Given the description of an element on the screen output the (x, y) to click on. 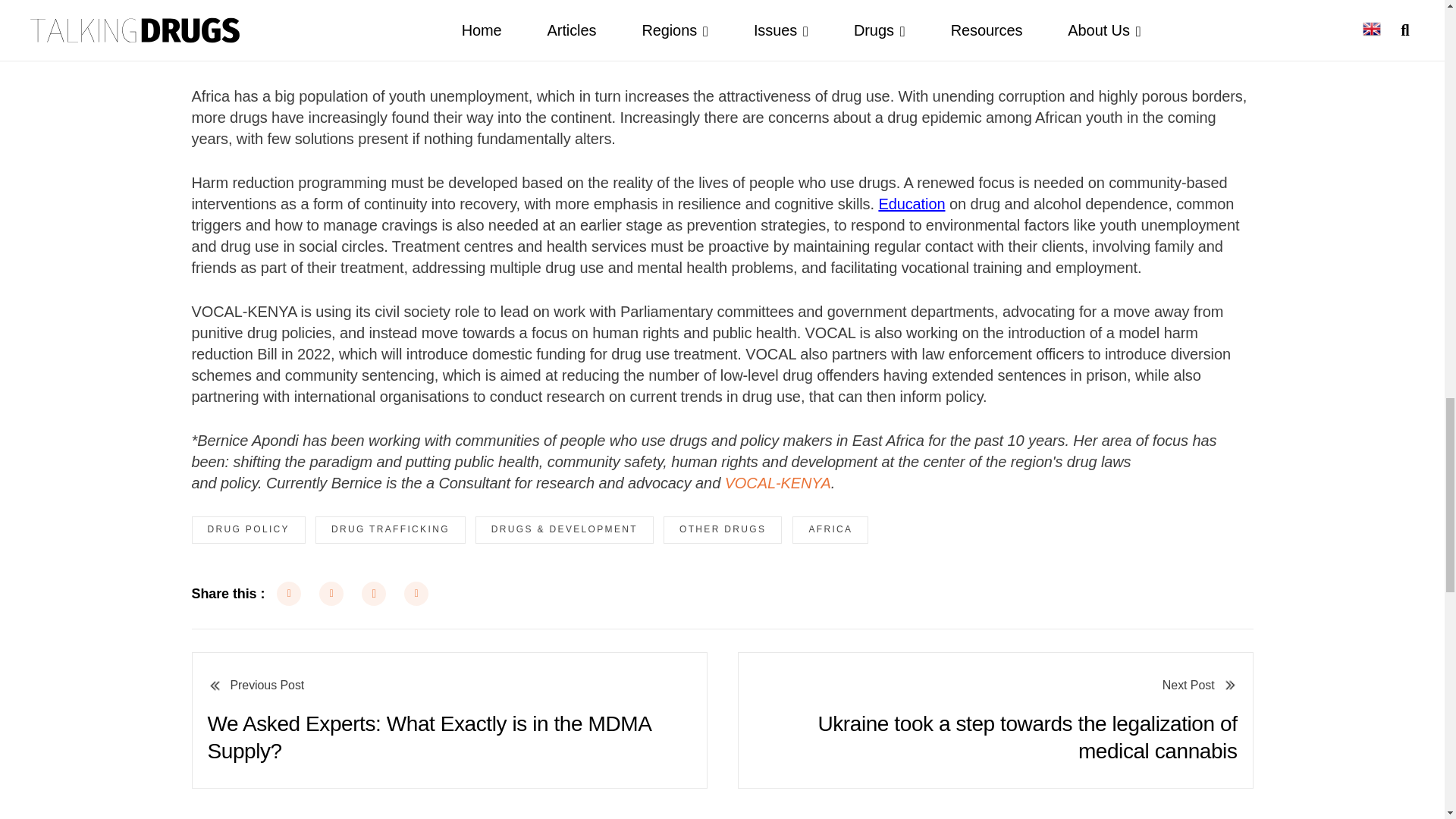
Twitter (330, 593)
Instagram (373, 593)
Facebook (288, 593)
LinkedIn (416, 593)
We Asked Experts: What Exactly is in the MDMA Supply? (448, 719)
